Given the description of an element on the screen output the (x, y) to click on. 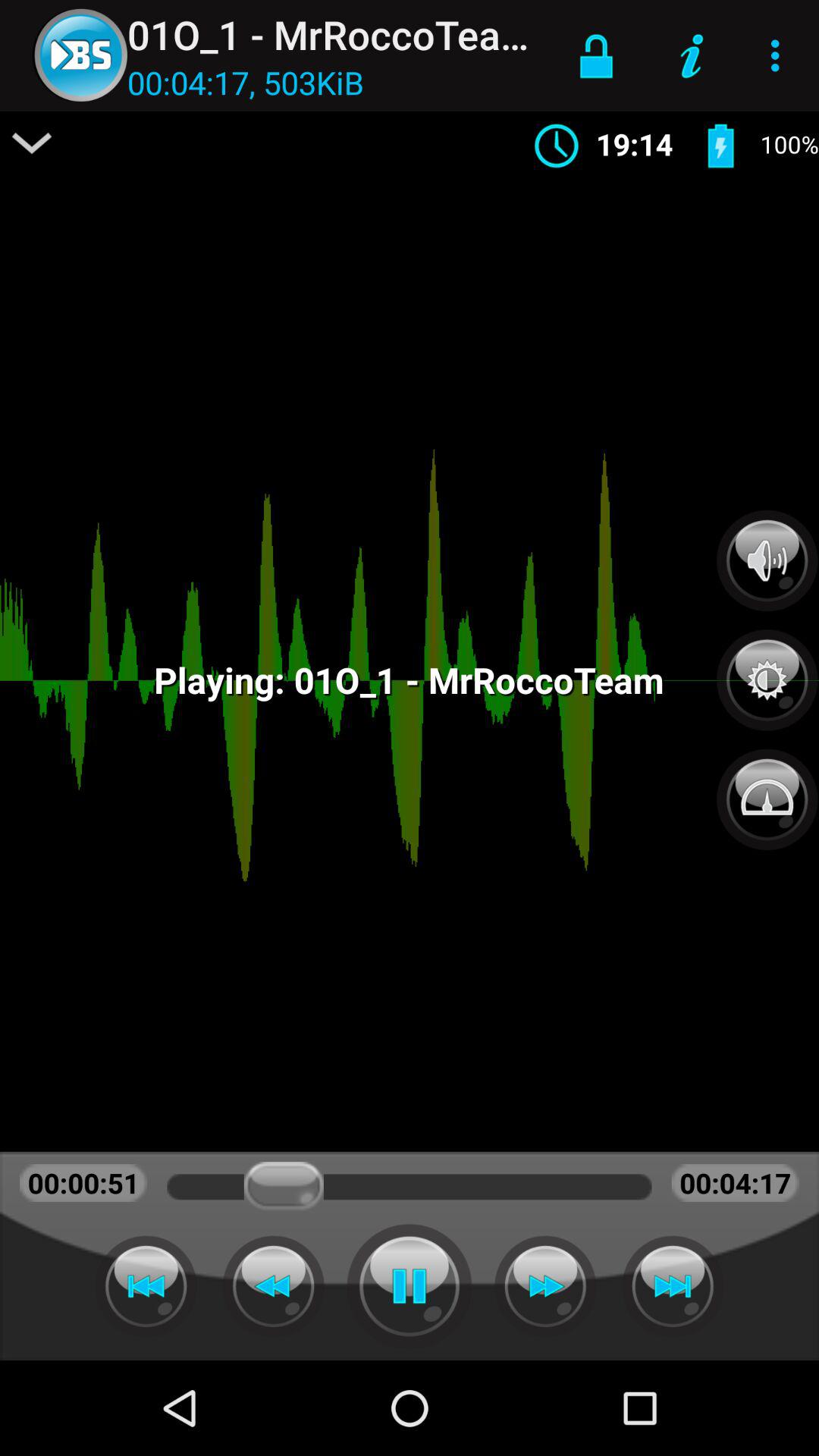
go to previous (145, 1286)
